Given the description of an element on the screen output the (x, y) to click on. 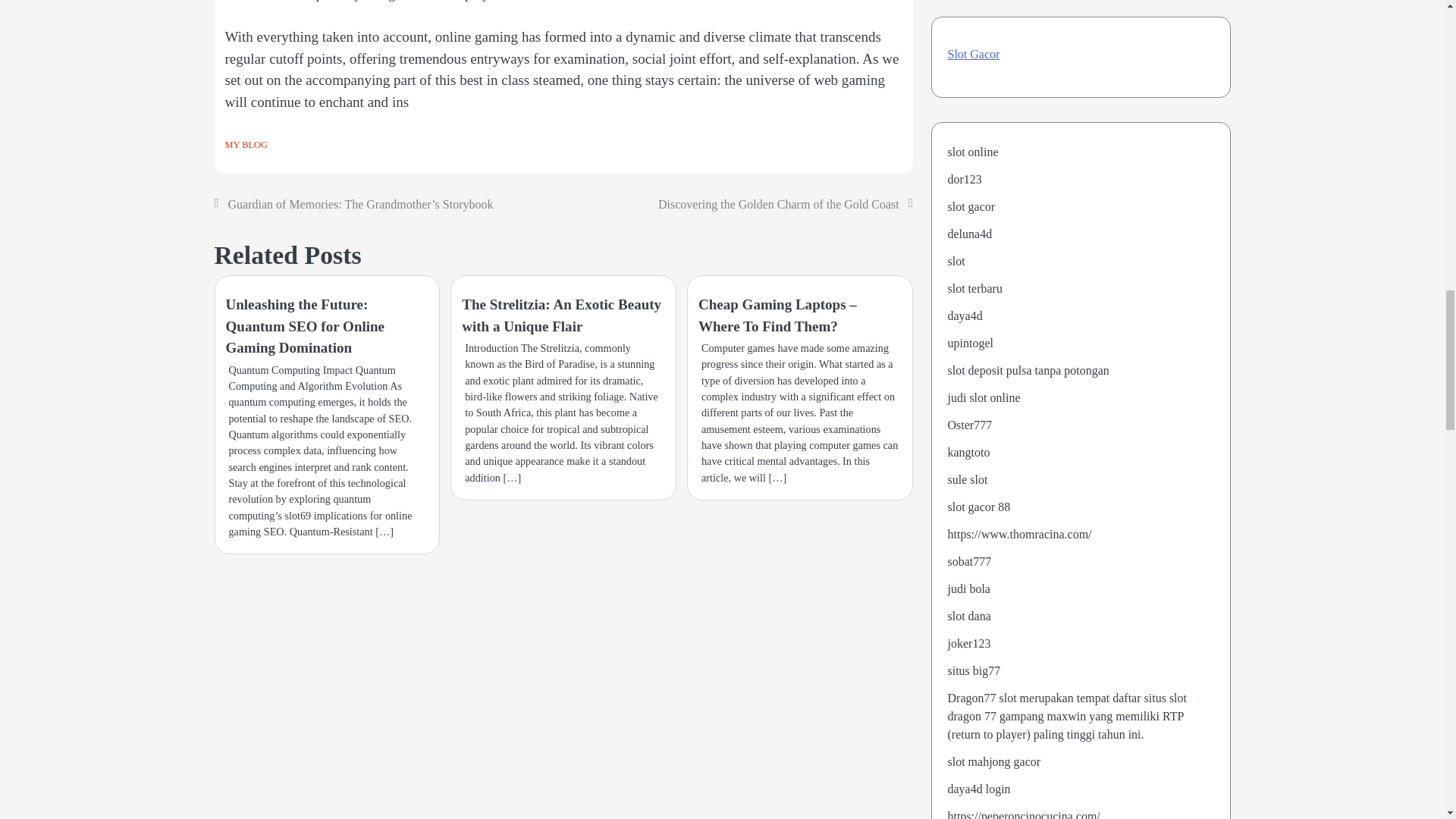
Discovering the Golden Charm of the Gold Coast (778, 204)
MY BLOG (245, 144)
The Strelitzia: An Exotic Beauty with a Unique Flair (561, 315)
